Given the description of an element on the screen output the (x, y) to click on. 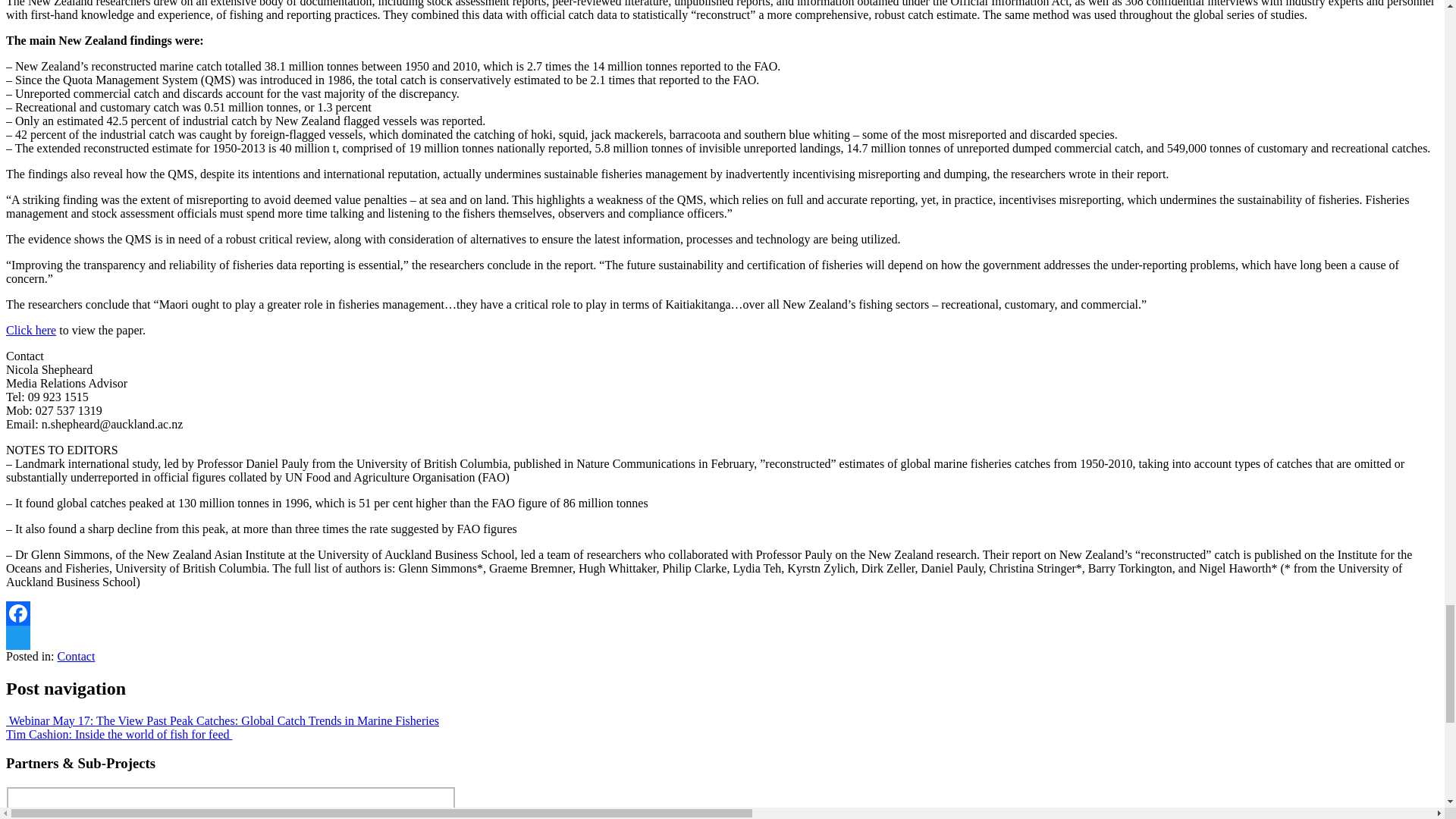
Facebook (721, 613)
Click here (30, 329)
Twitter (721, 637)
